Given the description of an element on the screen output the (x, y) to click on. 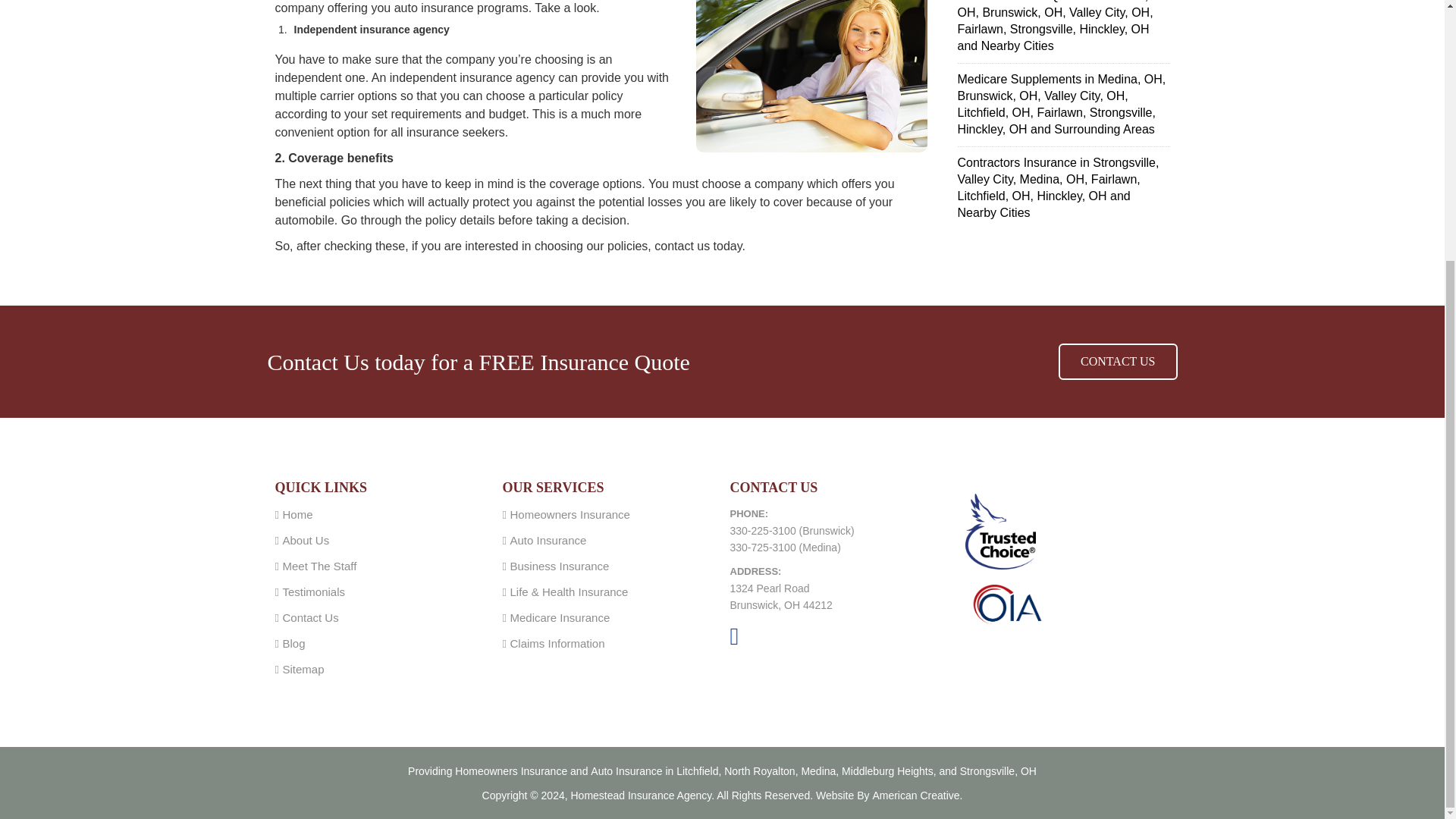
Business Insurance (558, 565)
Website Design SEO Nationwide (917, 795)
Claims Information (556, 643)
Medicare Insurance (559, 617)
Auto Insurance (626, 770)
About Us (305, 540)
Contact Us (309, 617)
Testimonials (313, 591)
Home (297, 513)
